Given the description of an element on the screen output the (x, y) to click on. 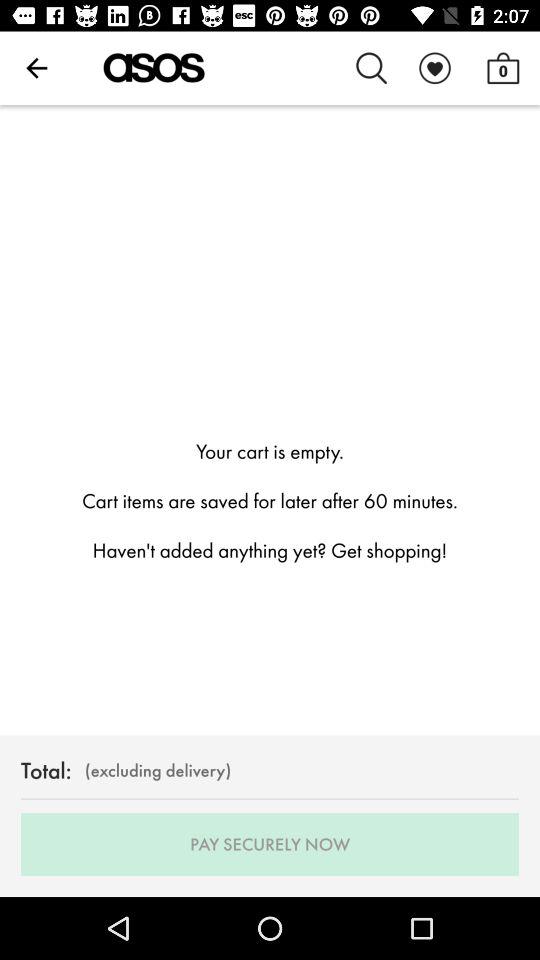
click 0 icon (503, 68)
